Given the description of an element on the screen output the (x, y) to click on. 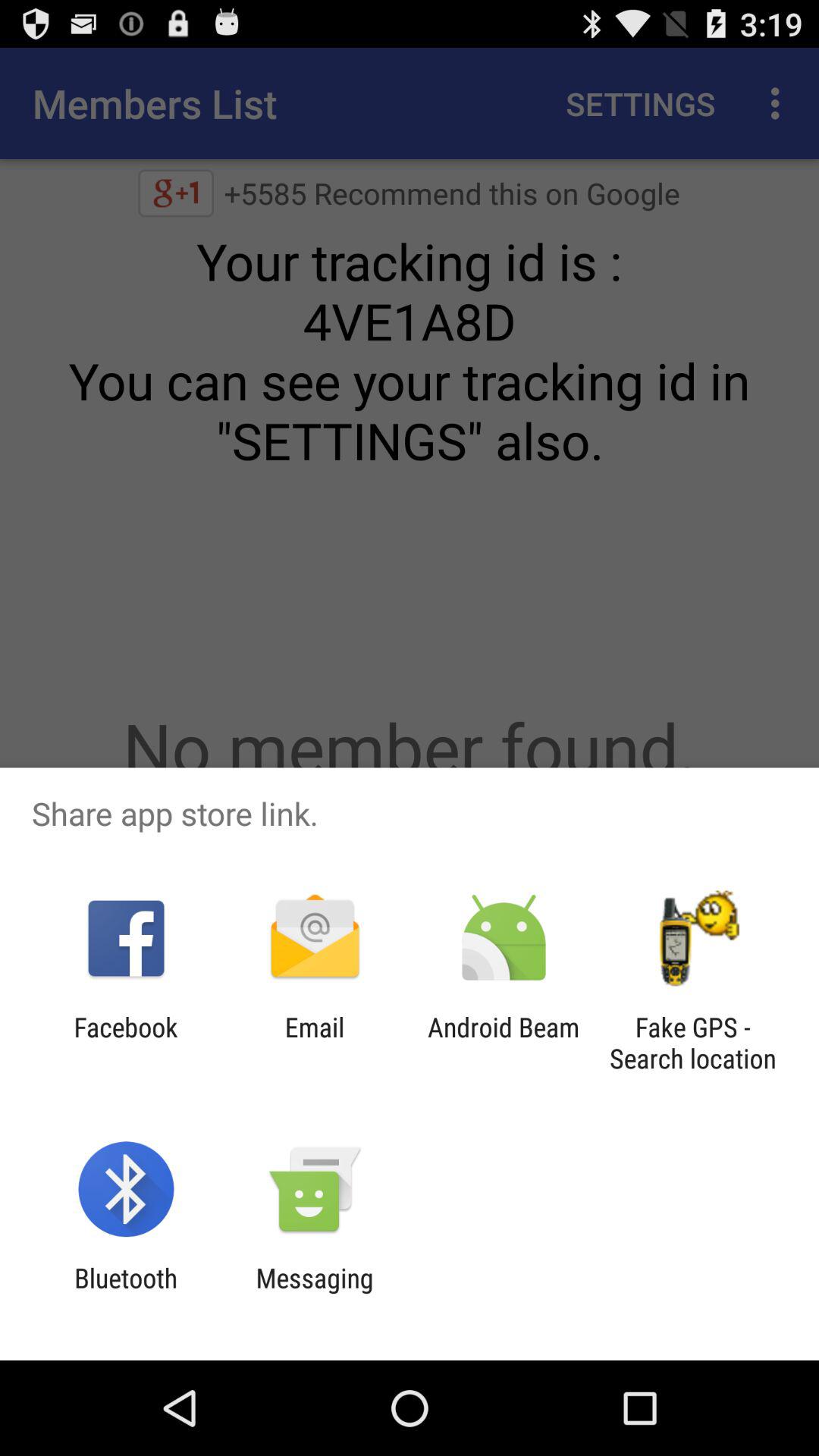
open the icon to the right of the android beam item (692, 1042)
